Given the description of an element on the screen output the (x, y) to click on. 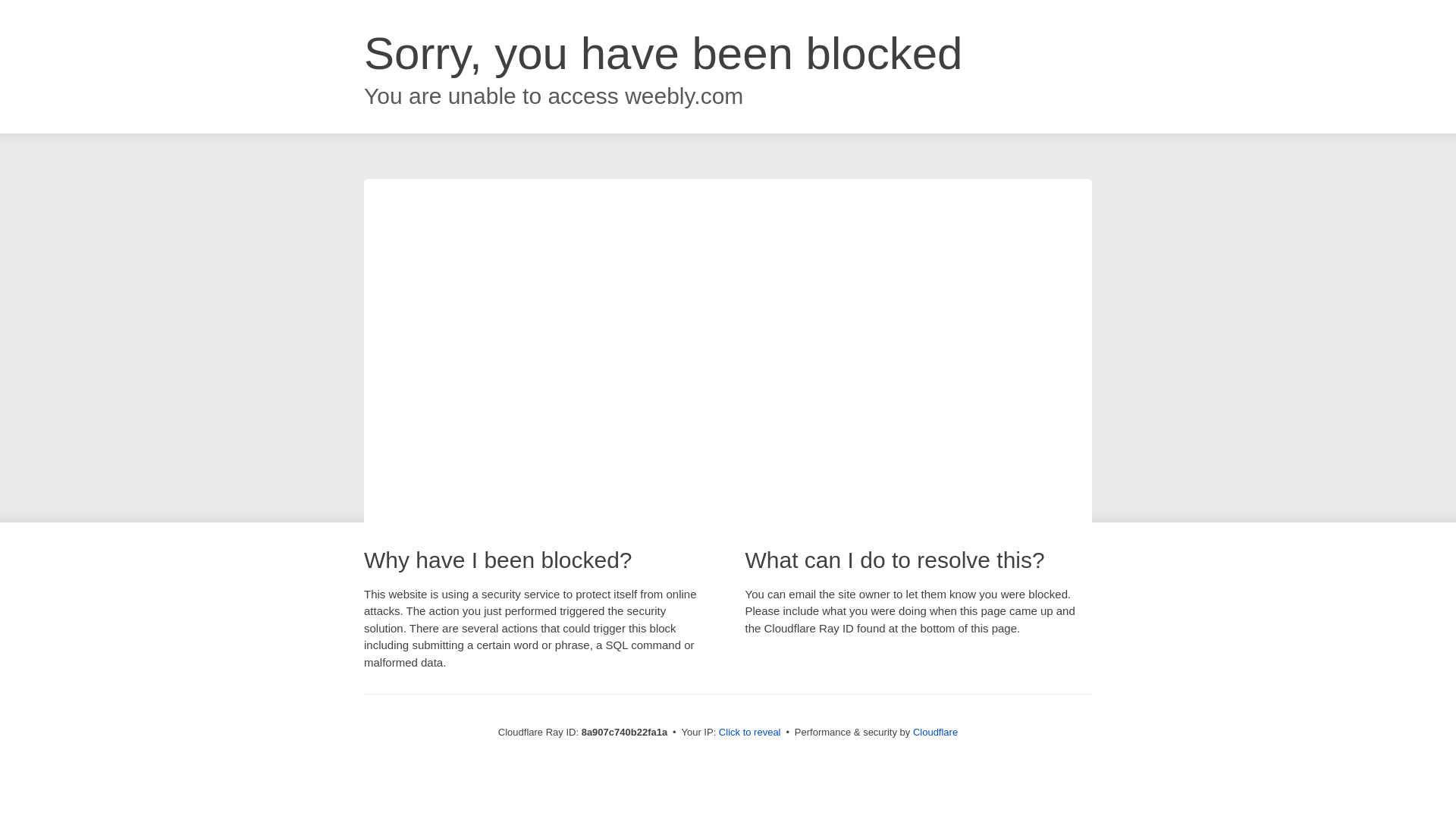
Cloudflare (935, 731)
Click to reveal (749, 732)
